Given the description of an element on the screen output the (x, y) to click on. 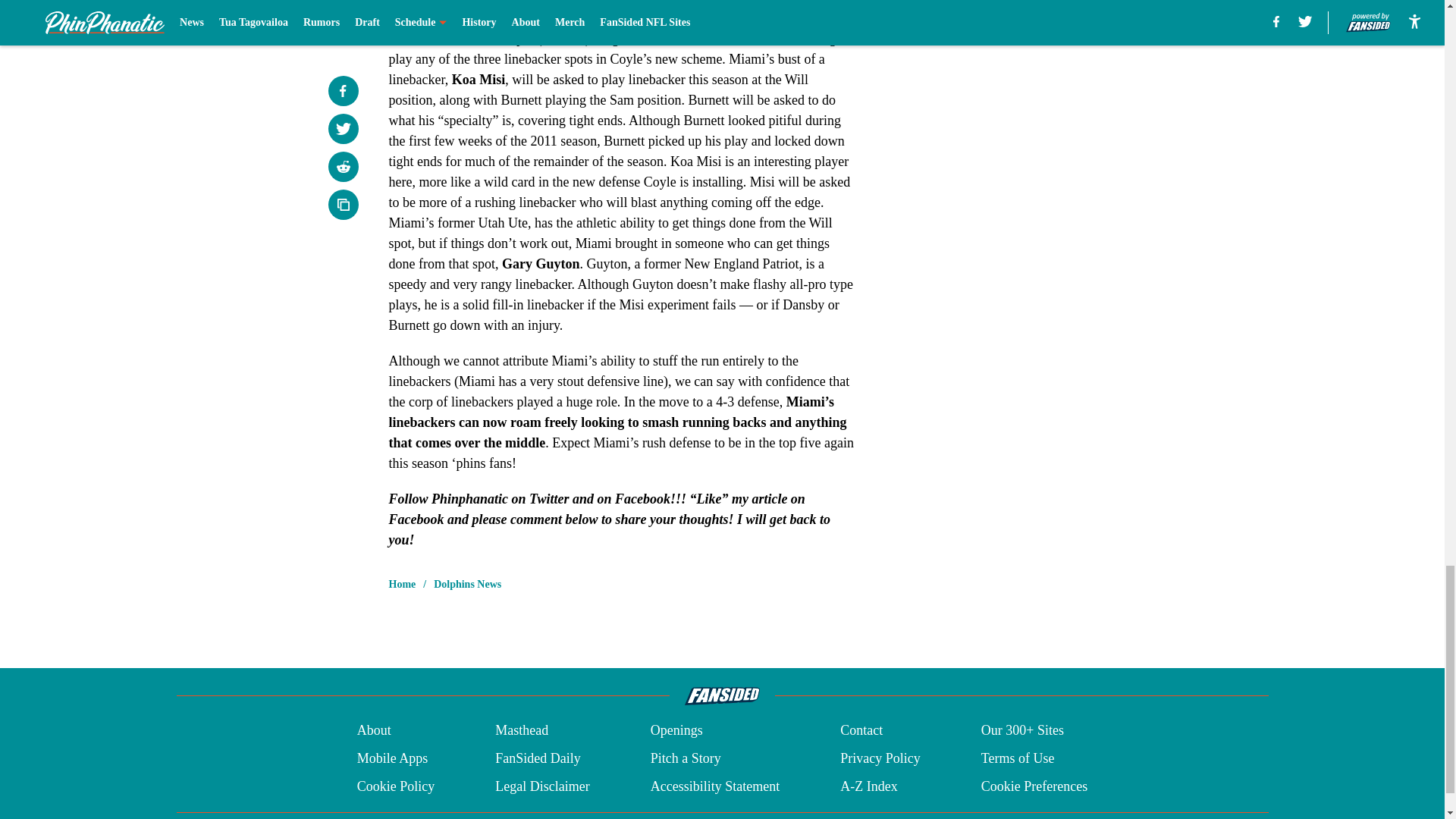
Home (401, 584)
Dolphins News (466, 584)
About (373, 730)
Legal Disclaimer (542, 786)
Masthead (521, 730)
Pitch a Story (685, 758)
Mobile Apps (392, 758)
Cookie Policy (395, 786)
FanSided Daily (537, 758)
Contact (861, 730)
Accessibility Statement (714, 786)
Openings (676, 730)
Terms of Use (1017, 758)
Privacy Policy (880, 758)
